Given the description of an element on the screen output the (x, y) to click on. 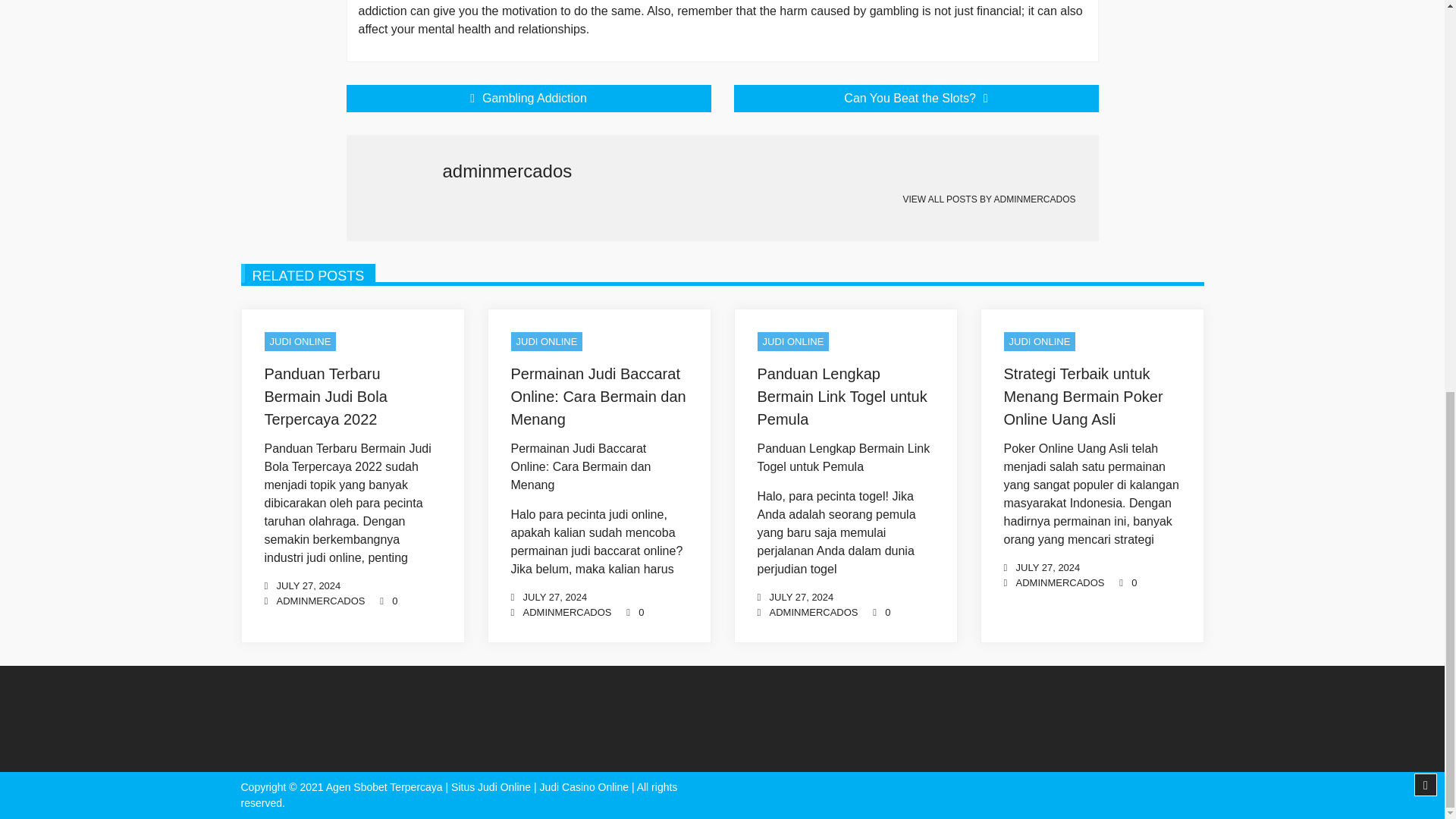
ADMINMERCADOS (1033, 199)
JUDI ONLINE (792, 342)
ADMINMERCADOS (812, 612)
JUDI ONLINE (547, 342)
Strategi Terbaik untuk Menang Bermain Poker Online Uang Asli (1083, 396)
adminmercados (320, 600)
Gambling Addiction (528, 98)
JULY 27, 2024 (800, 596)
Go to Top (1425, 34)
adminmercados (1060, 582)
0 (887, 612)
ADMINMERCADOS (1060, 582)
ADMINMERCADOS (320, 600)
ADMINMERCADOS (566, 612)
JUDI ONLINE (1039, 342)
